Given the description of an element on the screen output the (x, y) to click on. 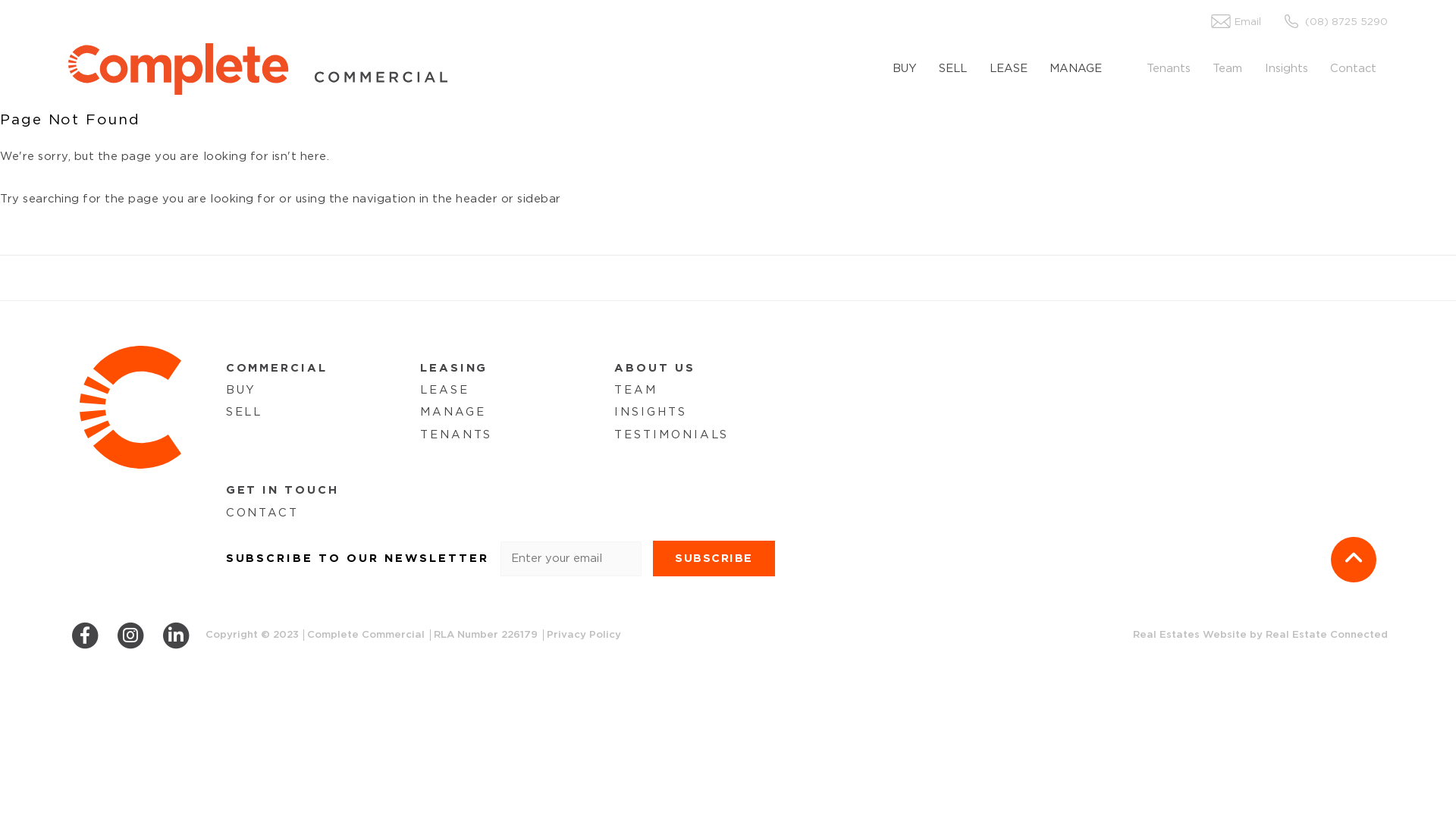
INSIGHTS Element type: text (650, 411)
LEASE Element type: text (1008, 68)
SELL Element type: text (953, 68)
TENANTS Element type: text (456, 434)
Email Element type: text (1240, 21)
Team Element type: text (1227, 68)
Insights Element type: text (1285, 68)
TEAM Element type: text (635, 389)
GET IN TOUCH Element type: text (281, 489)
ABOUT US Element type: text (654, 367)
(08) 8725 5290 Element type: text (1328, 21)
MANAGE Element type: text (453, 411)
Privacy Policy Element type: text (583, 634)
Contact Element type: text (1353, 68)
Real Estate Connected Element type: text (1326, 634)
SELL Element type: text (244, 411)
Complete Commercial Element type: hover (257, 68)
COMMERCIAL Element type: text (276, 367)
Subscribe Element type: text (713, 558)
CONTACT Element type: text (262, 512)
MANAGE Element type: text (1075, 68)
LEASE Element type: text (444, 389)
Tenants Element type: text (1168, 68)
BUY Element type: text (241, 389)
LEASING Element type: text (454, 367)
TESTIMONIALS Element type: text (671, 434)
BUY Element type: text (910, 68)
